Given the description of an element on the screen output the (x, y) to click on. 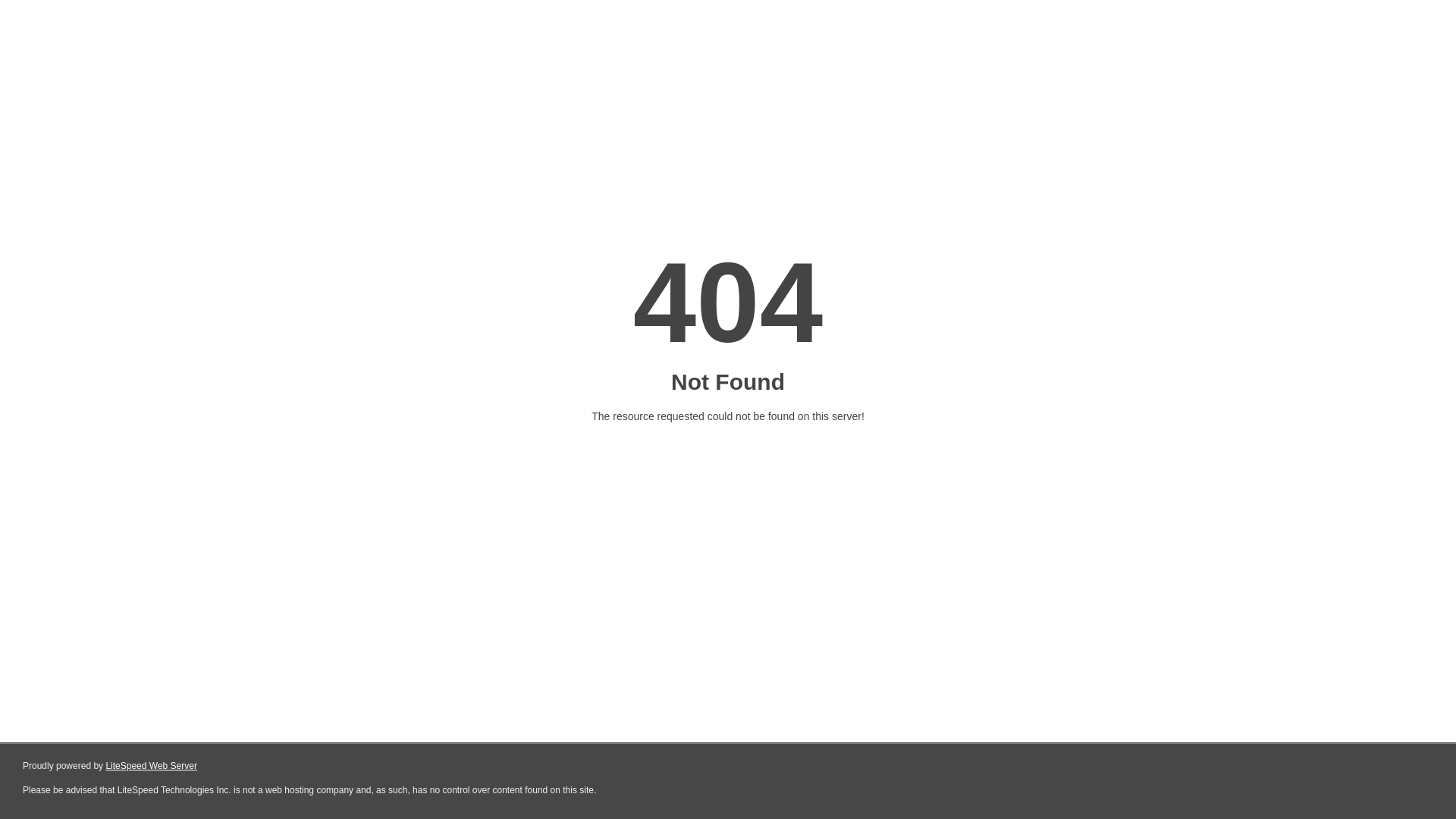
LiteSpeed Web Server Element type: text (151, 765)
